Given the description of an element on the screen output the (x, y) to click on. 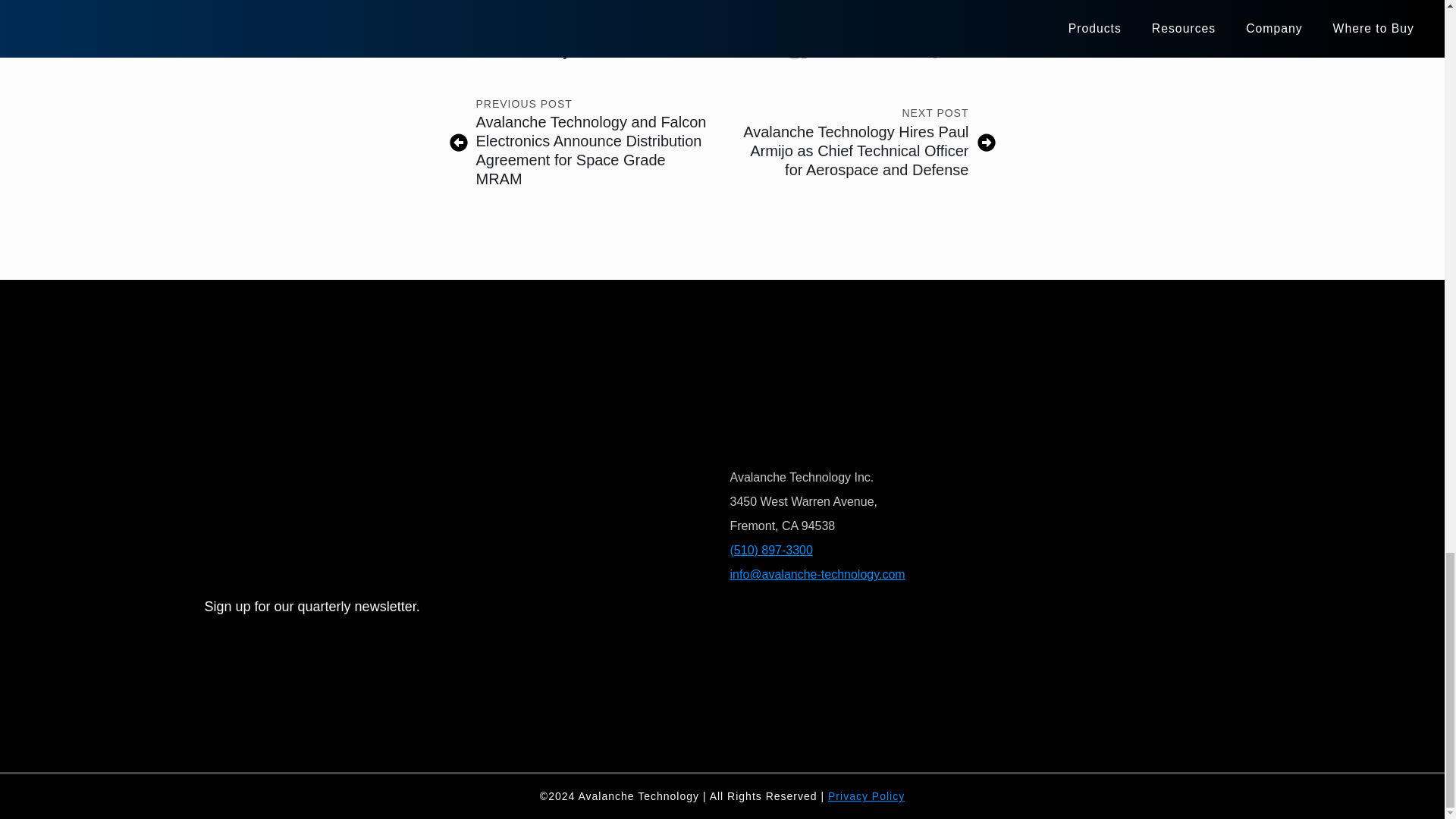
Privacy Policy (866, 796)
